Given the description of an element on the screen output the (x, y) to click on. 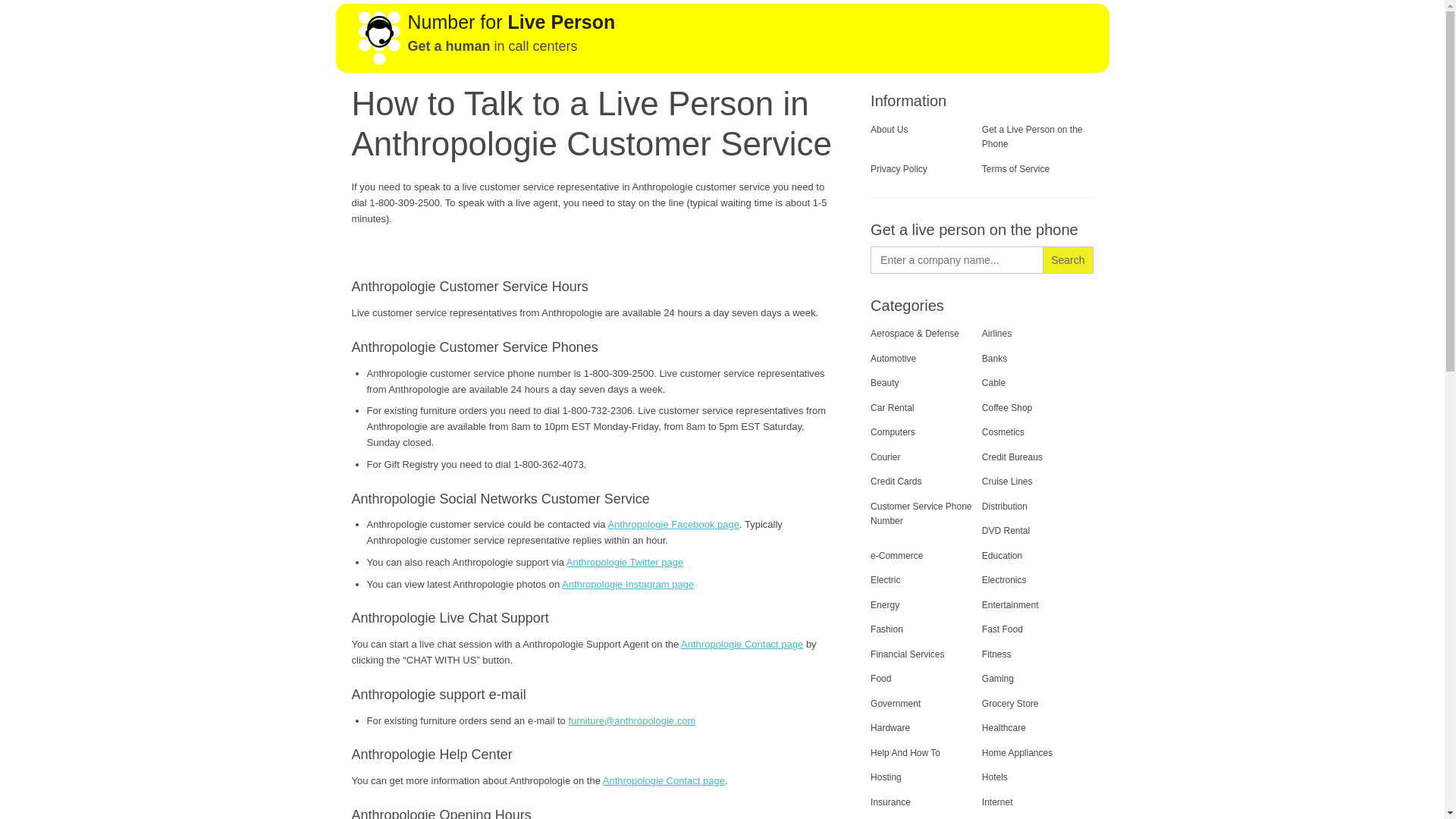
Number for Live Person (511, 21)
Privacy Policy (898, 168)
Banks (994, 357)
Terms of Service (1015, 168)
Anthropologie Facebook page (672, 523)
Get a Live Person on the Phone (1032, 136)
Search (1067, 259)
About Us (888, 129)
Entertainment (1010, 604)
Cosmetics (1003, 431)
Customer Service Phone Number (920, 513)
Credit Cards (895, 480)
Energy (884, 604)
Anthropologie Contact page (742, 644)
Car Rental (892, 407)
